Given the description of an element on the screen output the (x, y) to click on. 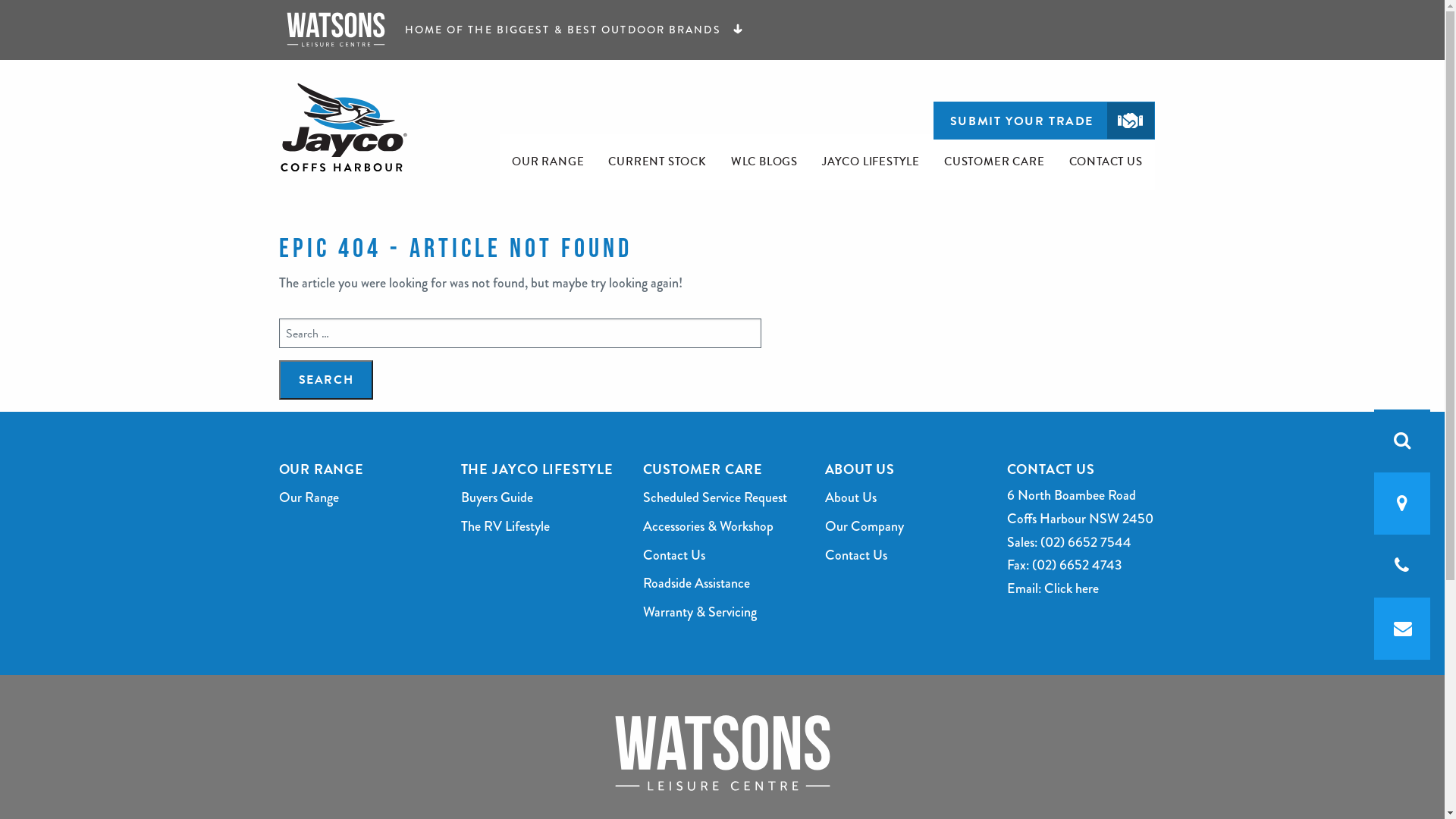
Scheduled Service Request Element type: text (722, 497)
Search Element type: text (326, 379)
(02) 6652 7544 Element type: text (1085, 542)
Our Company Element type: text (904, 526)
JAYCO LIFESTYLE Element type: text (870, 161)
CURRENT STOCK Element type: text (657, 161)
Warranty & Servicing Element type: text (722, 612)
CUSTOMER CARE Element type: text (993, 161)
Contact Us Element type: text (722, 555)
CONTACT US Element type: text (1105, 161)
Jayco Coffs Harbour Element type: text (352, 126)
Buyers Guide Element type: text (540, 497)
Roadside Assistance Element type: text (722, 583)
OUR RANGE Element type: text (547, 161)
WLC BLOGS Element type: text (763, 161)
Click here Element type: text (1070, 588)
(02) 6652 4743 Element type: text (1076, 564)
About Us Element type: text (904, 497)
Contact Us Element type: text (904, 555)
The RV Lifestyle Element type: text (540, 526)
Accessories & Workshop Element type: text (722, 526)
Our Range Element type: text (358, 497)
SUBMIT YOUR TRADE Element type: text (1043, 120)
